Given the description of an element on the screen output the (x, y) to click on. 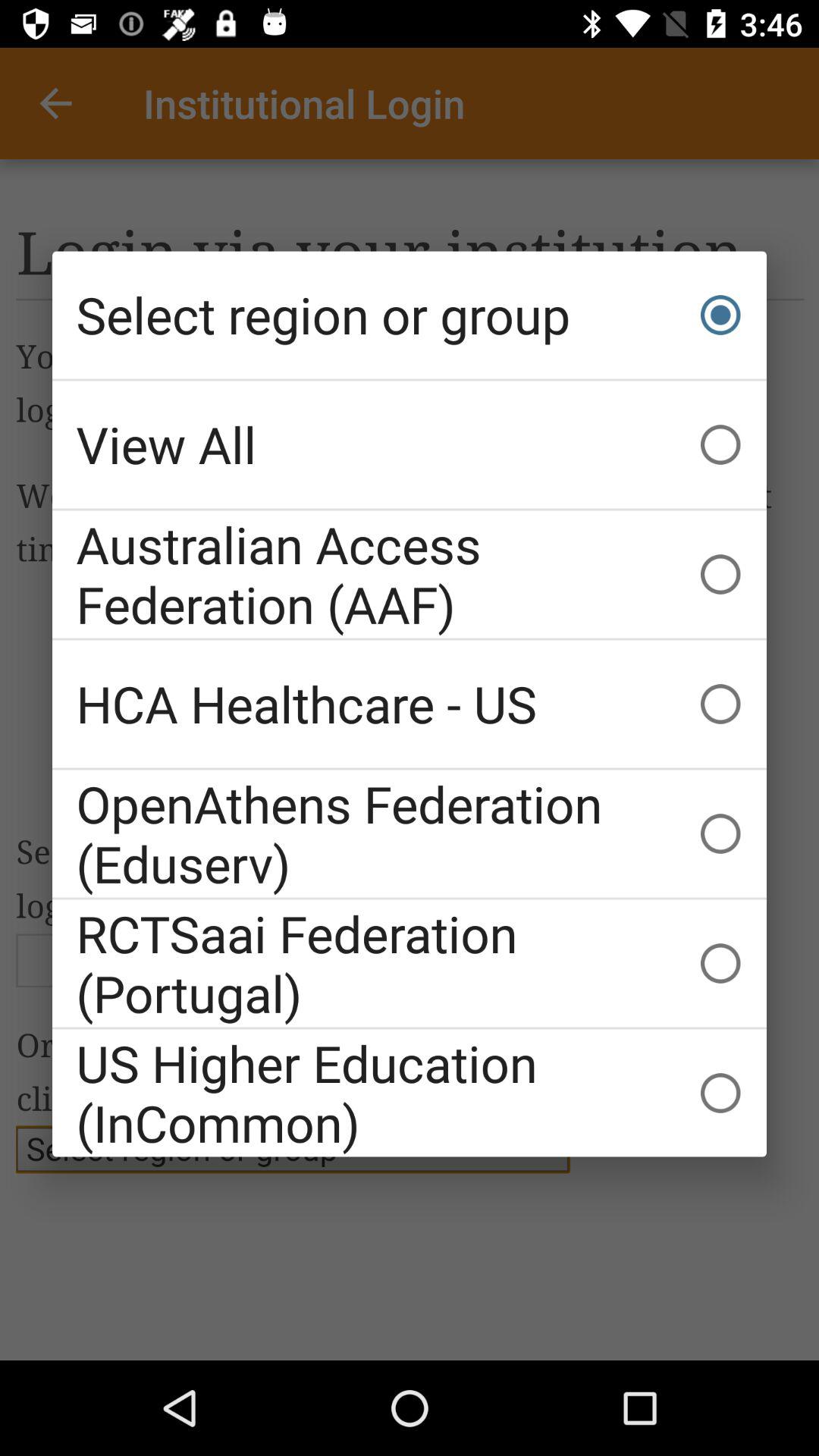
turn on the icon below the openathens federation (eduserv) icon (409, 963)
